Given the description of an element on the screen output the (x, y) to click on. 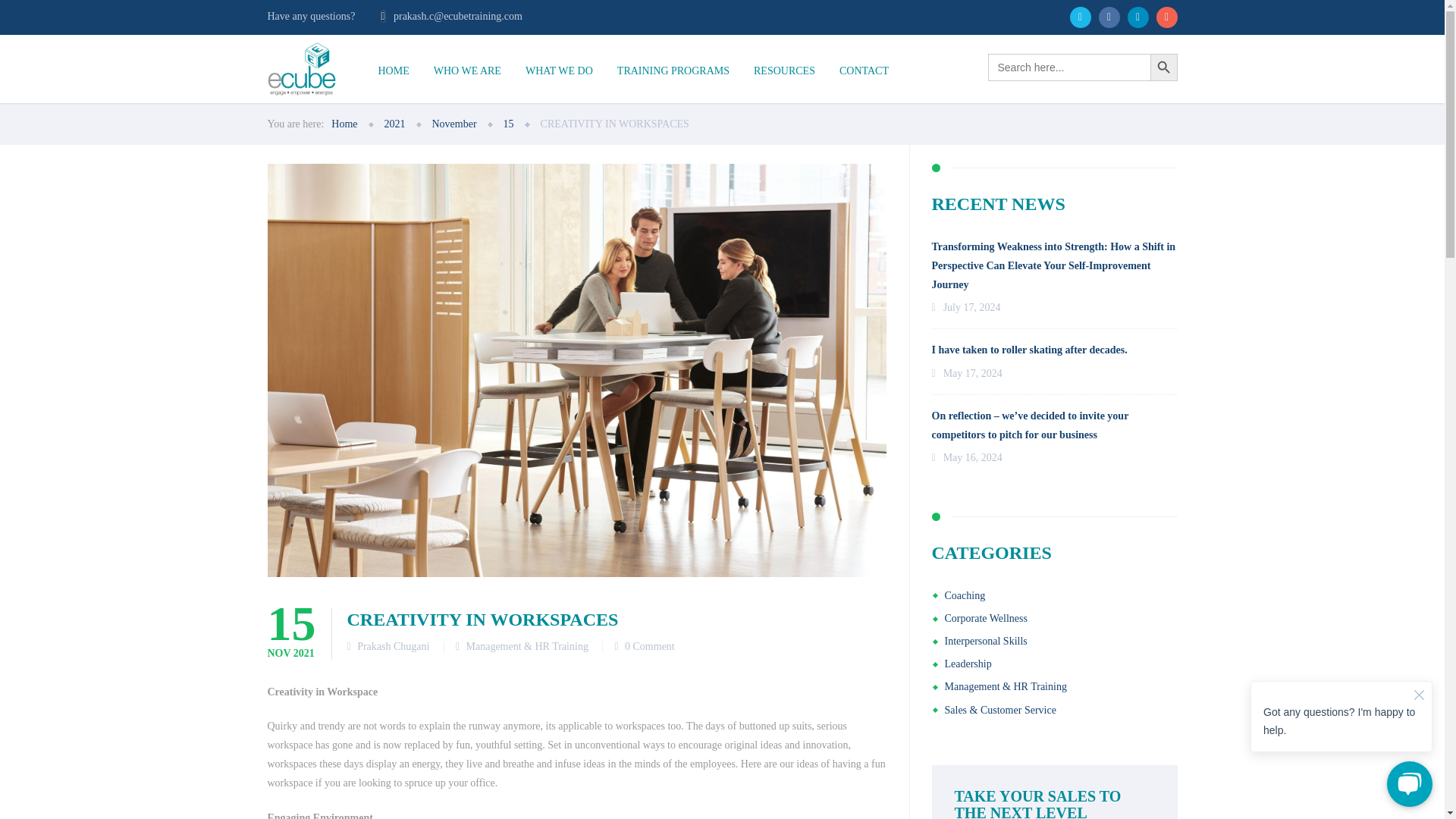
SEARCH BUTTON (1163, 67)
WHAT WE DO (559, 71)
TRAINING PROGRAMS (673, 71)
CONTACT (864, 71)
WHO WE ARE (467, 71)
RESOURCES (784, 71)
HOME (392, 71)
